Given the description of an element on the screen output the (x, y) to click on. 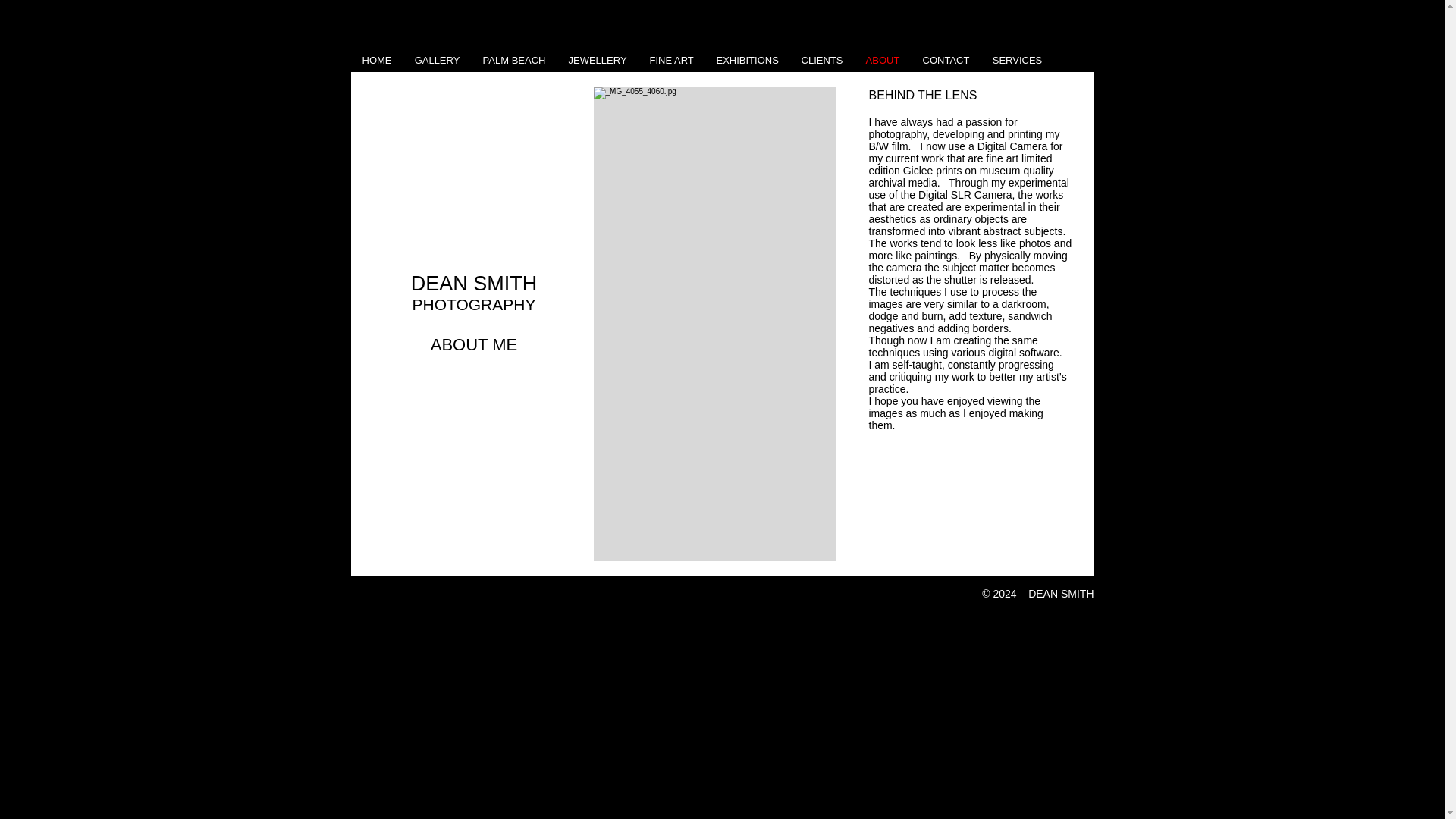
EXHIBITIONS (747, 60)
SERVICES (1017, 60)
PALM BEACH (514, 60)
CONTACT (946, 60)
HOME (376, 60)
GALLERY (437, 60)
JEWELLERY (596, 60)
CLIENTS (822, 60)
DEAN SMITH (473, 282)
FINE ART (671, 60)
